Given the description of an element on the screen output the (x, y) to click on. 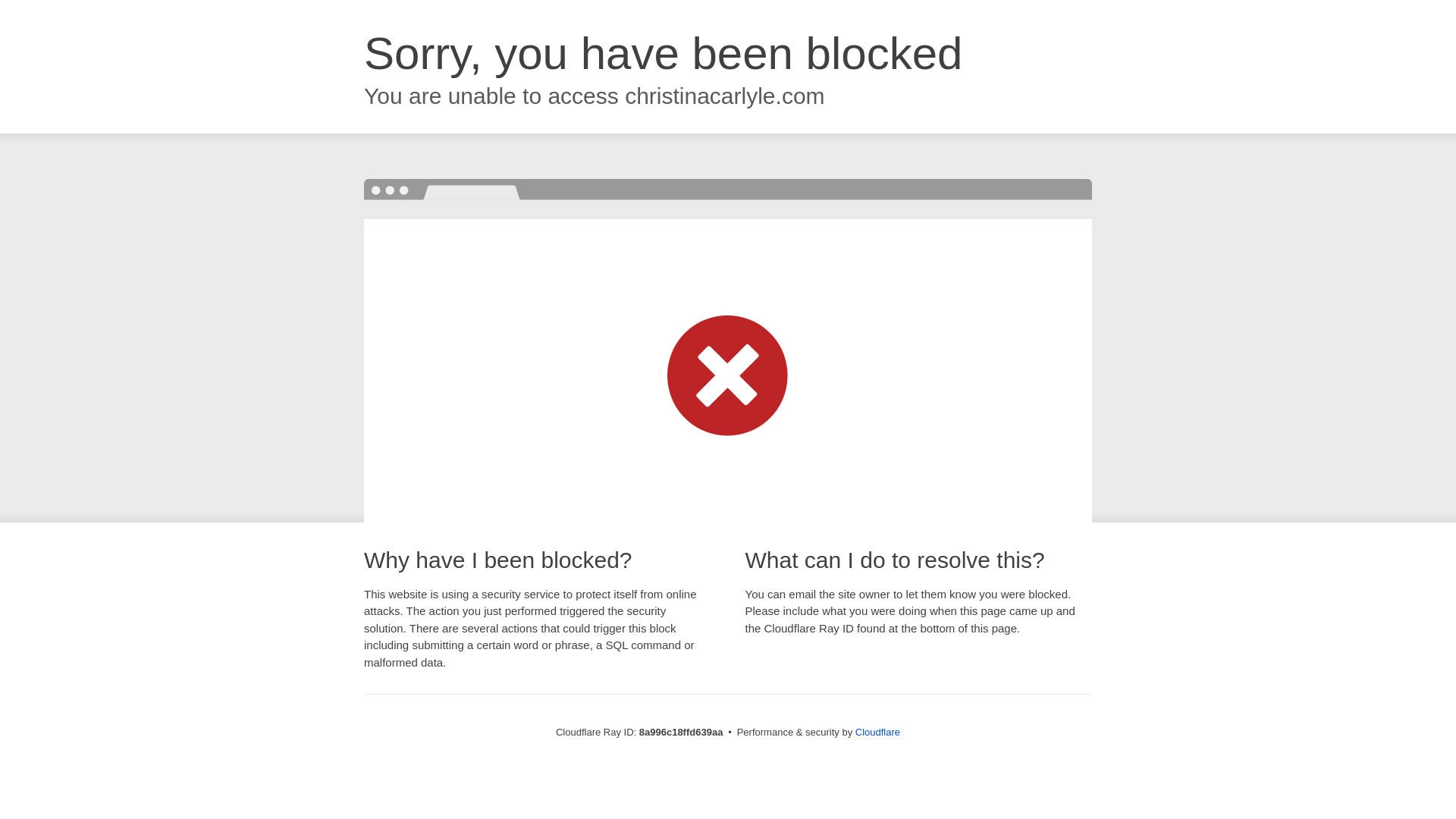
Cloudflare (877, 731)
